Given the description of an element on the screen output the (x, y) to click on. 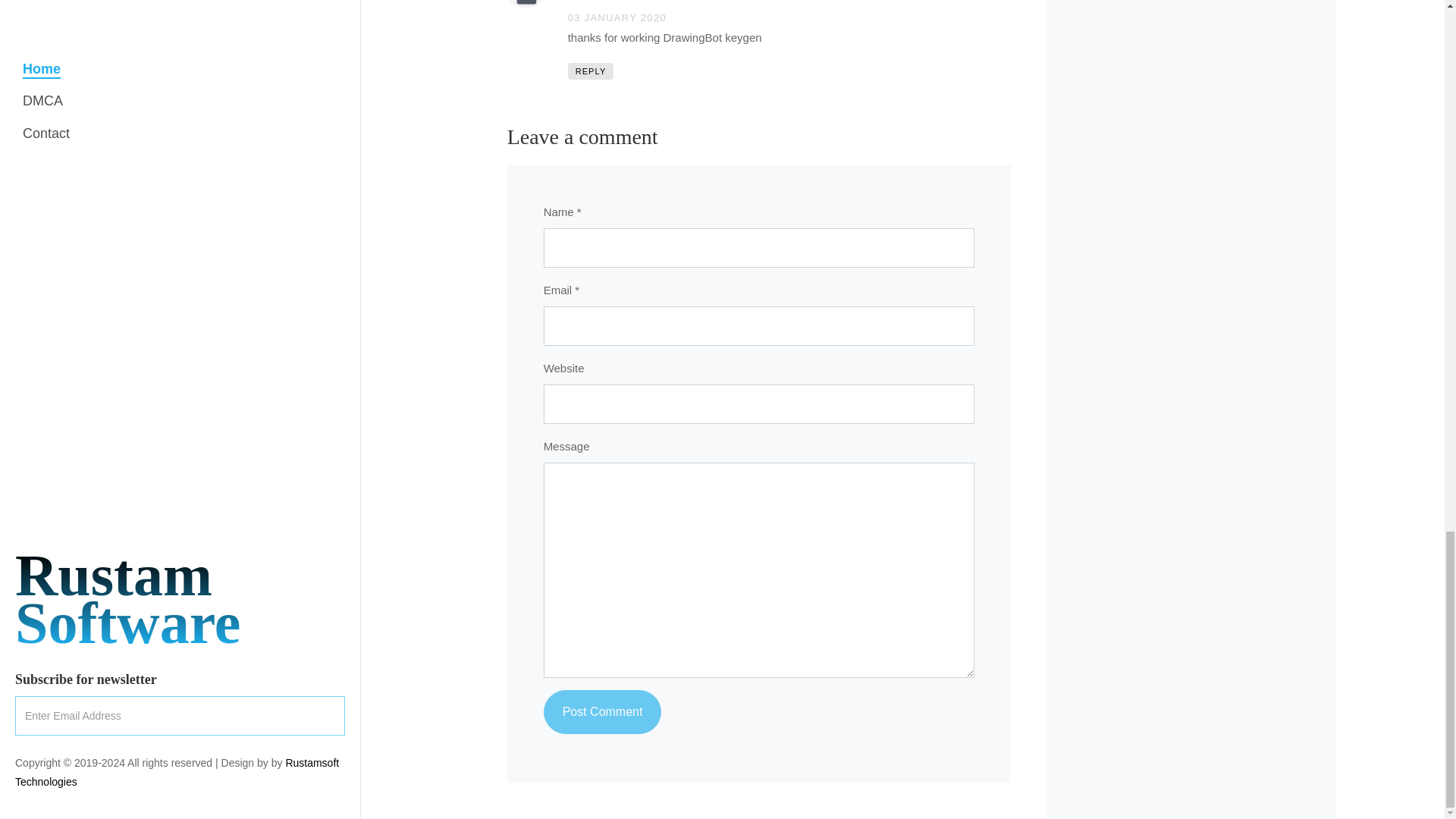
REPLY (590, 71)
Post Comment (602, 711)
Post Comment (602, 711)
